Given the description of an element on the screen output the (x, y) to click on. 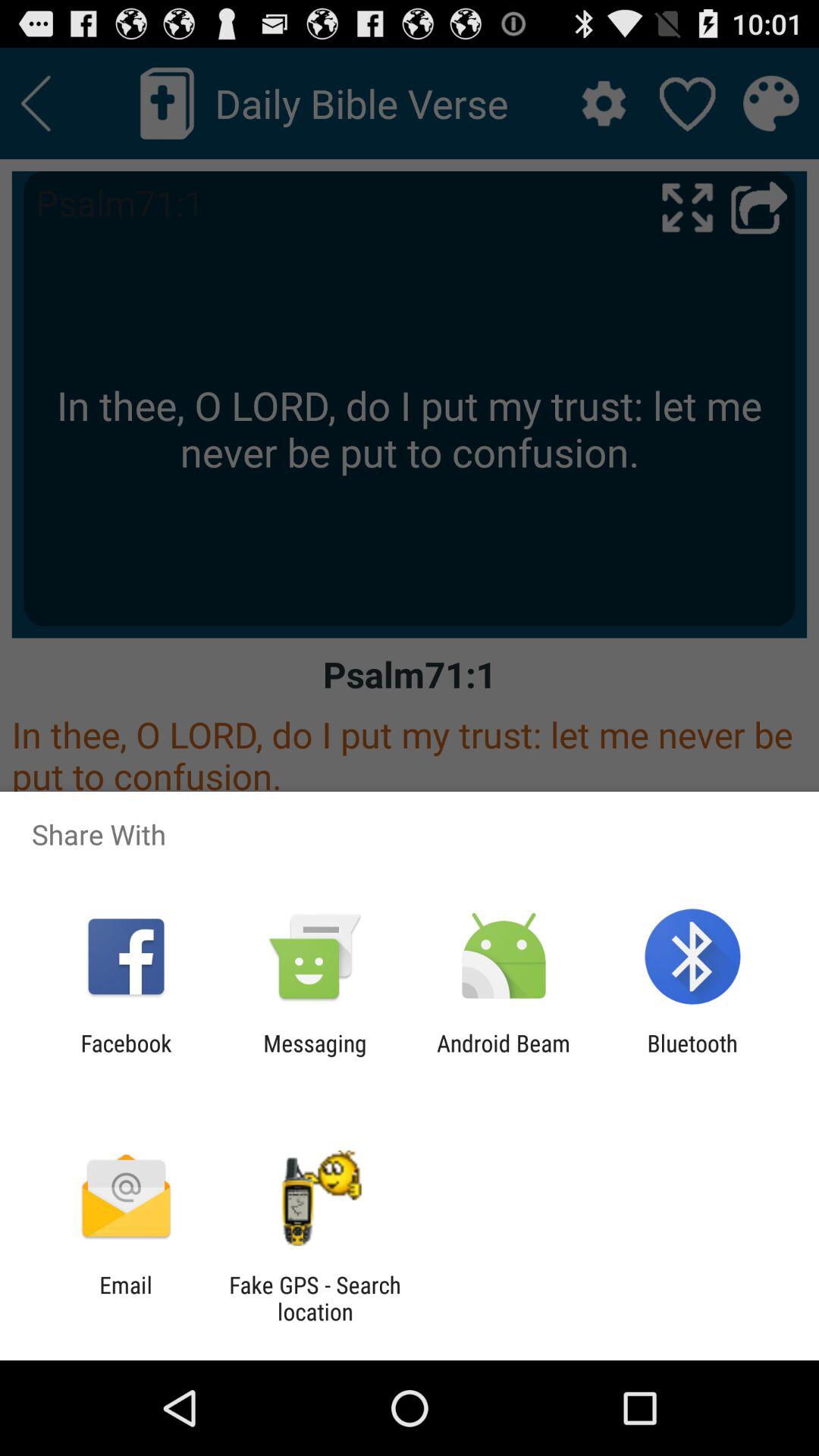
open the icon next to fake gps search item (125, 1298)
